Given the description of an element on the screen output the (x, y) to click on. 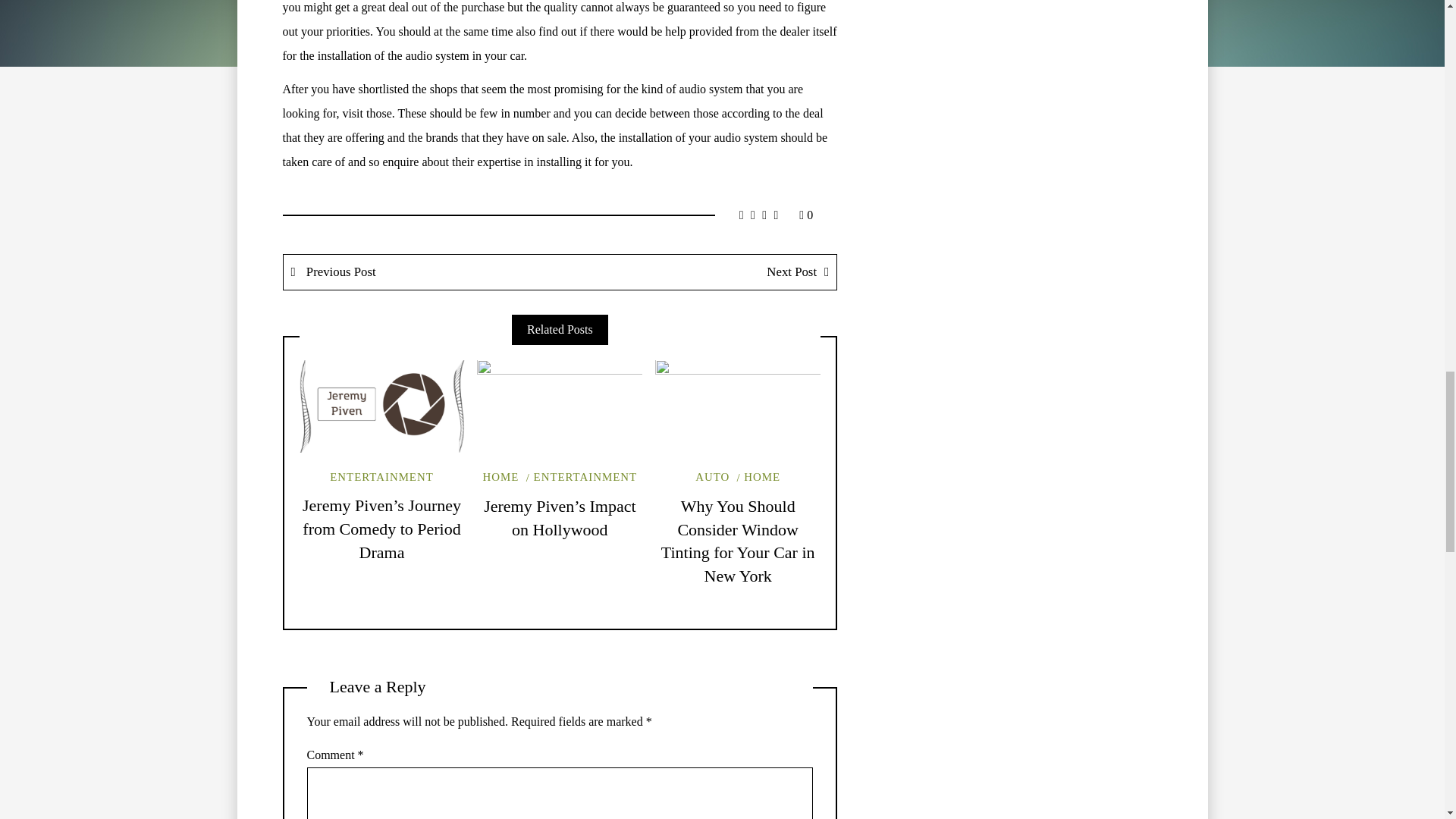
ENTERTAINMENT (581, 476)
ENTERTAINMENT (381, 476)
AUTO (712, 476)
HOME (501, 476)
HOME (758, 476)
0 (805, 214)
Next Post (697, 271)
